Given the description of an element on the screen output the (x, y) to click on. 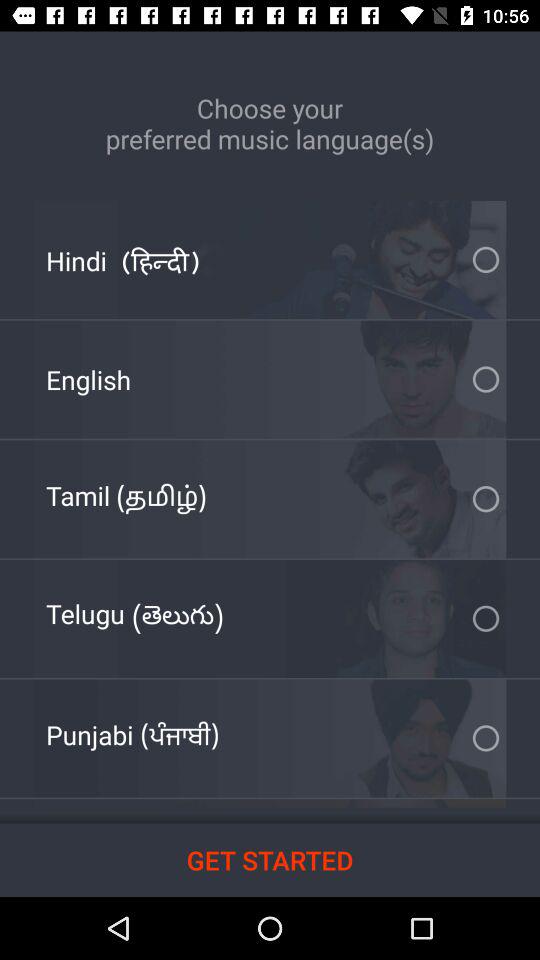
launch icon at the top left corner (122, 259)
